Given the description of an element on the screen output the (x, y) to click on. 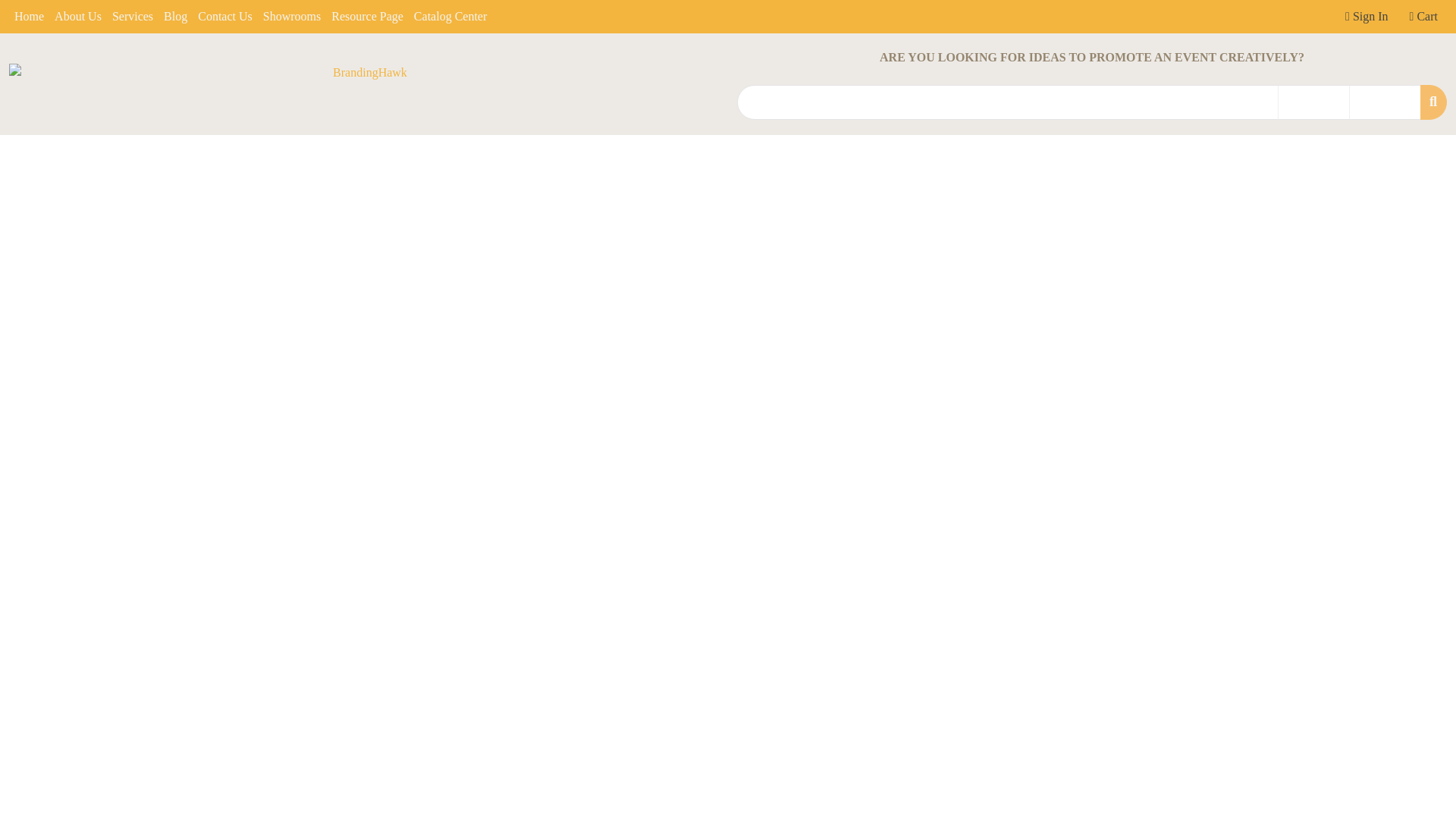
Resource Page (367, 16)
About Us (77, 16)
Services (132, 16)
Cart (1423, 16)
Showrooms (291, 16)
Contact Us (224, 16)
Blog (175, 16)
Sign In (1366, 16)
Home (28, 16)
Catalog Center (450, 16)
